Given the description of an element on the screen output the (x, y) to click on. 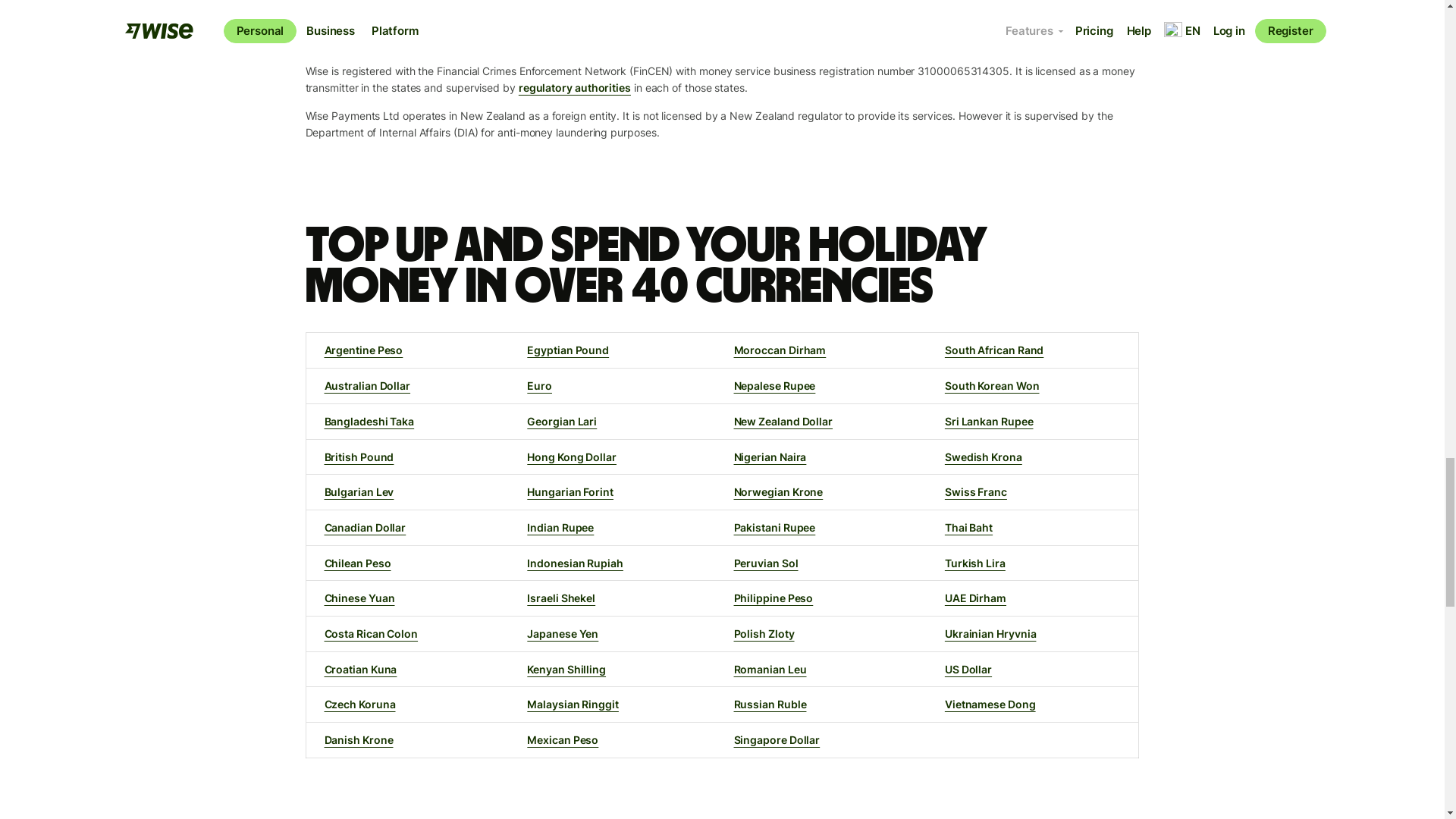
South African Rand (993, 349)
Egyptian Pound (567, 349)
Australian Dollar (367, 385)
Euro (539, 385)
New Zealand Dollar (782, 420)
regulatory authorities (574, 87)
South Korean Won (991, 385)
Argentine Peso (363, 349)
Nepalese Rupee (774, 385)
Bangladeshi Taka (369, 420)
Moroccan Dirham (780, 349)
Georgian Lari (561, 420)
